Given the description of an element on the screen output the (x, y) to click on. 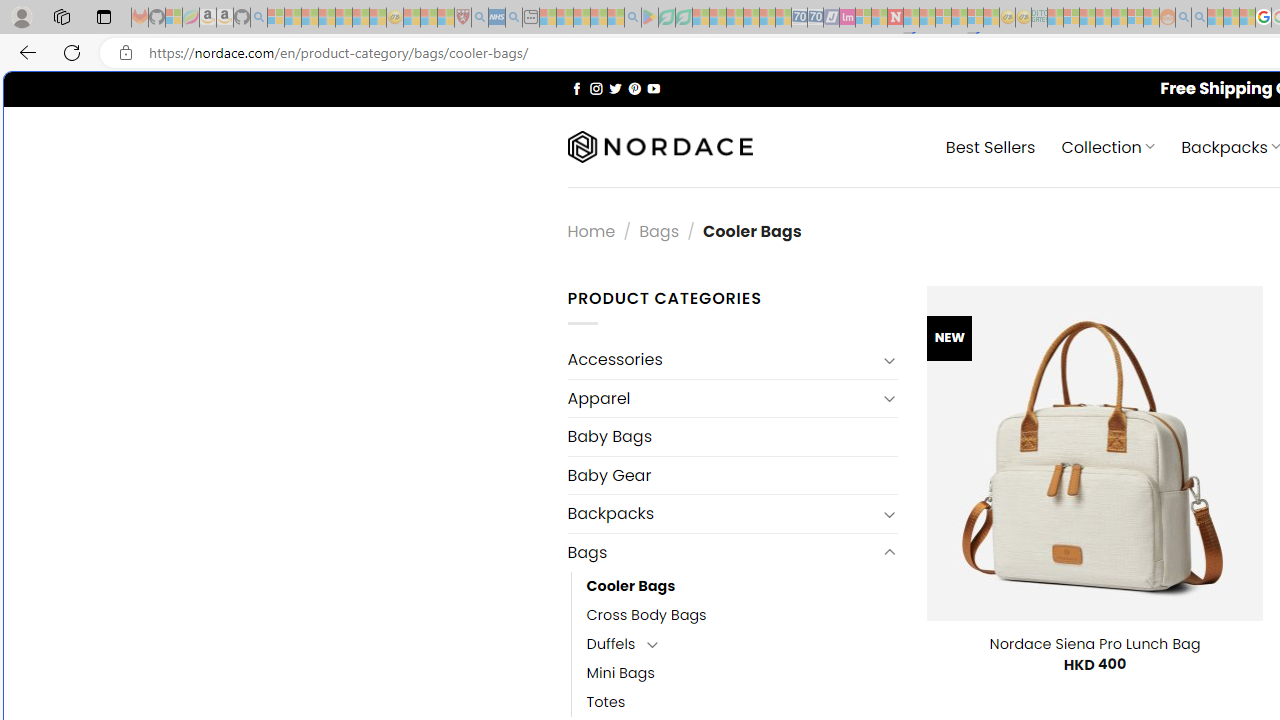
Baby Bags (732, 435)
Mini Bags (742, 673)
Nordace Siena Pro Lunch Bag (1094, 643)
Follow on Instagram (596, 88)
Backpacks (721, 514)
Cross Body Bags (742, 614)
google - Search - Sleeping (632, 17)
Nordace (659, 147)
Totes (742, 701)
Robert H. Shmerling, MD - Harvard Health - Sleeping (462, 17)
Terms of Use Agreement - Sleeping (666, 17)
New tab - Sleeping (530, 17)
